Given the description of an element on the screen output the (x, y) to click on. 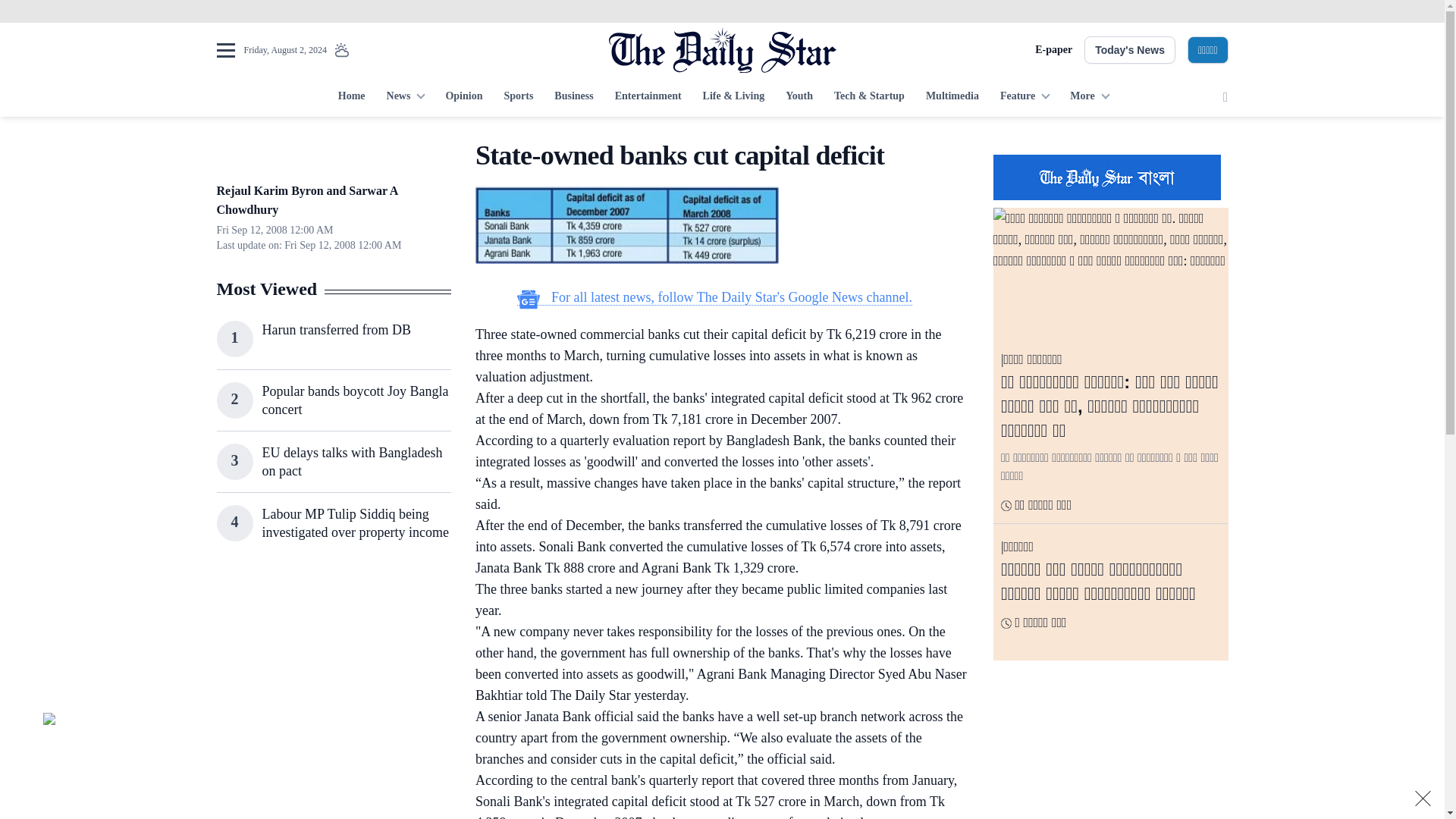
Home (351, 96)
Sports (518, 96)
Feature (1024, 96)
Today's News (1129, 49)
Multimedia (952, 96)
Youth (799, 96)
Opinion (463, 96)
Business (573, 96)
News (405, 96)
E-paper (1053, 49)
Entertainment (647, 96)
